Given the description of an element on the screen output the (x, y) to click on. 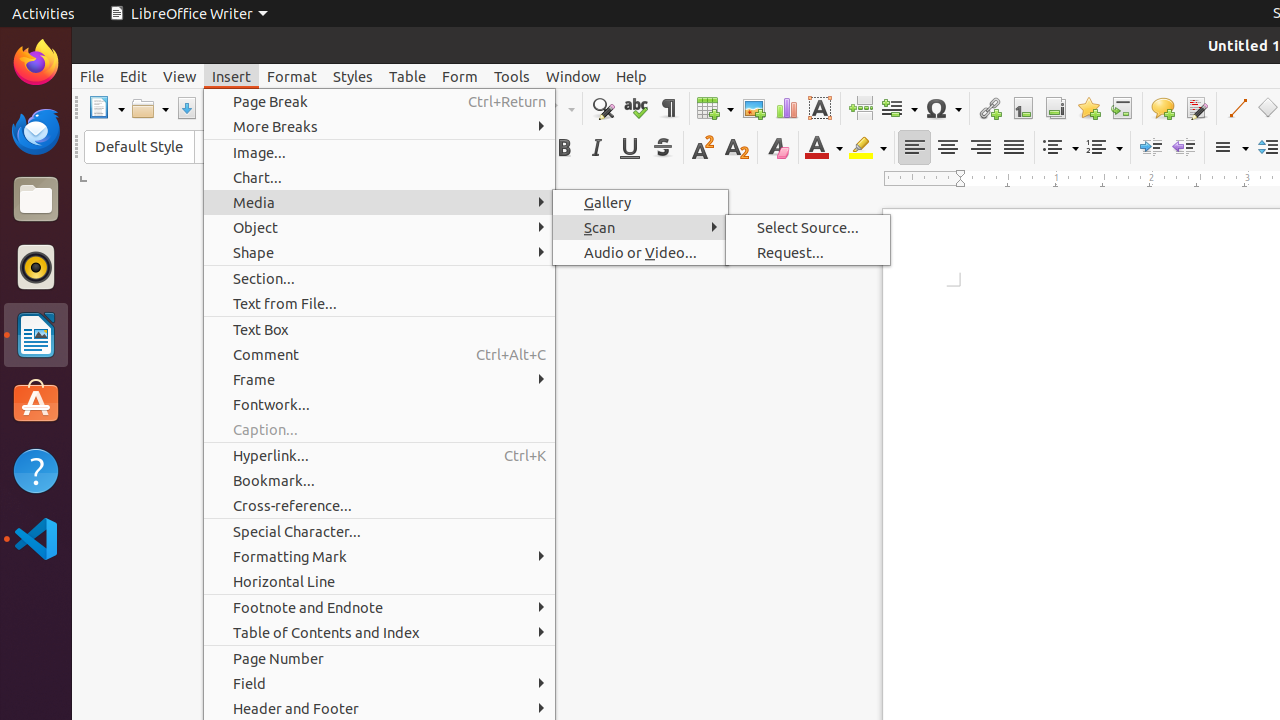
Spelling Element type: push-button (635, 108)
Visual Studio Code Element type: push-button (36, 538)
Field Element type: menu (379, 683)
Object Element type: menu (379, 227)
Text Box Element type: push-button (819, 108)
